Given the description of an element on the screen output the (x, y) to click on. 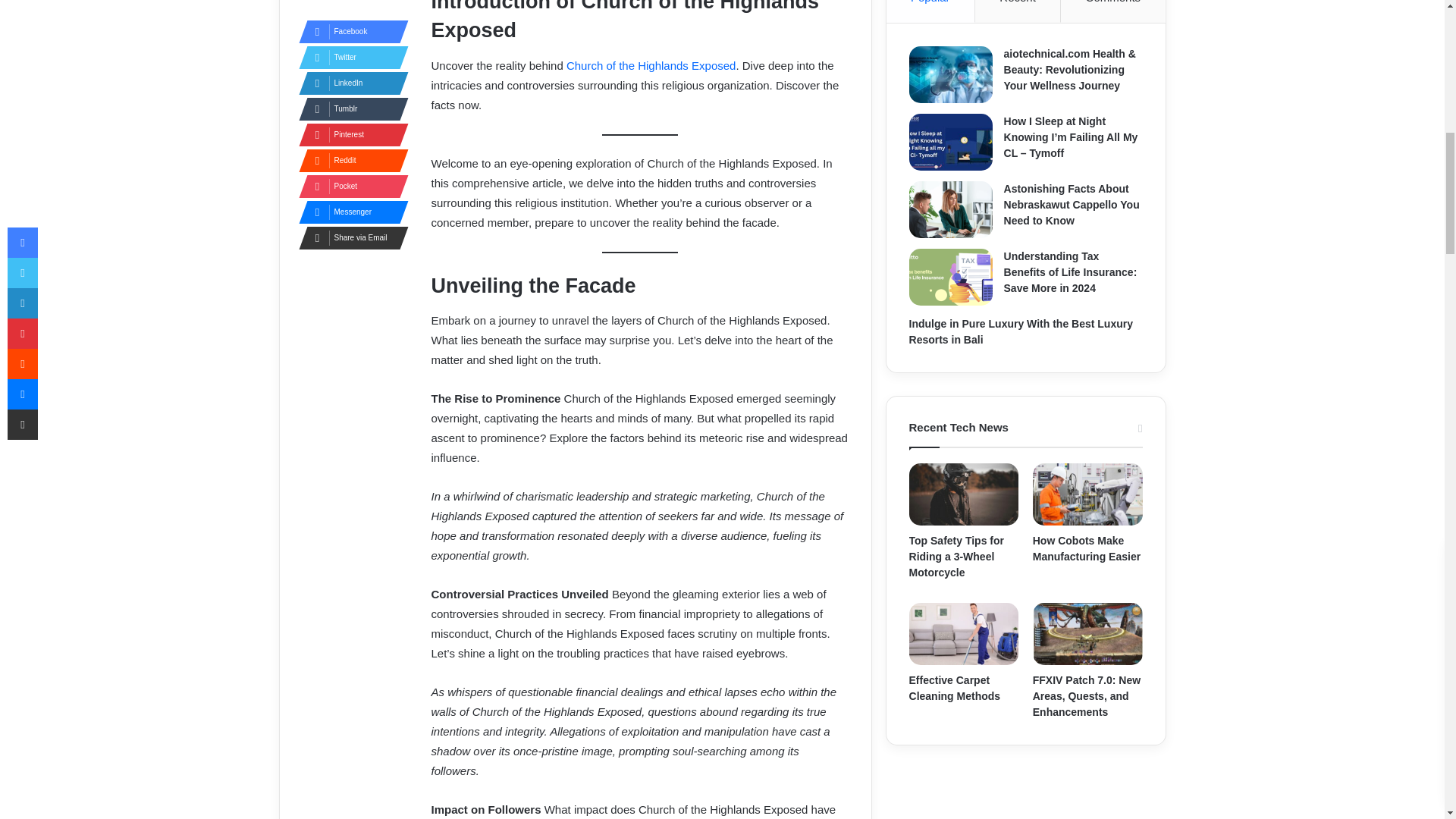
Facebook (348, 31)
Church of the Highlands Exposed (650, 65)
Tumblr (348, 108)
Facebook (348, 31)
Tumblr (348, 108)
Pocket (348, 186)
Pinterest (348, 134)
LinkedIn (348, 83)
Reddit (348, 160)
Twitter (348, 56)
Reddit (348, 160)
Pinterest (348, 134)
Twitter (348, 56)
LinkedIn (348, 83)
